Given the description of an element on the screen output the (x, y) to click on. 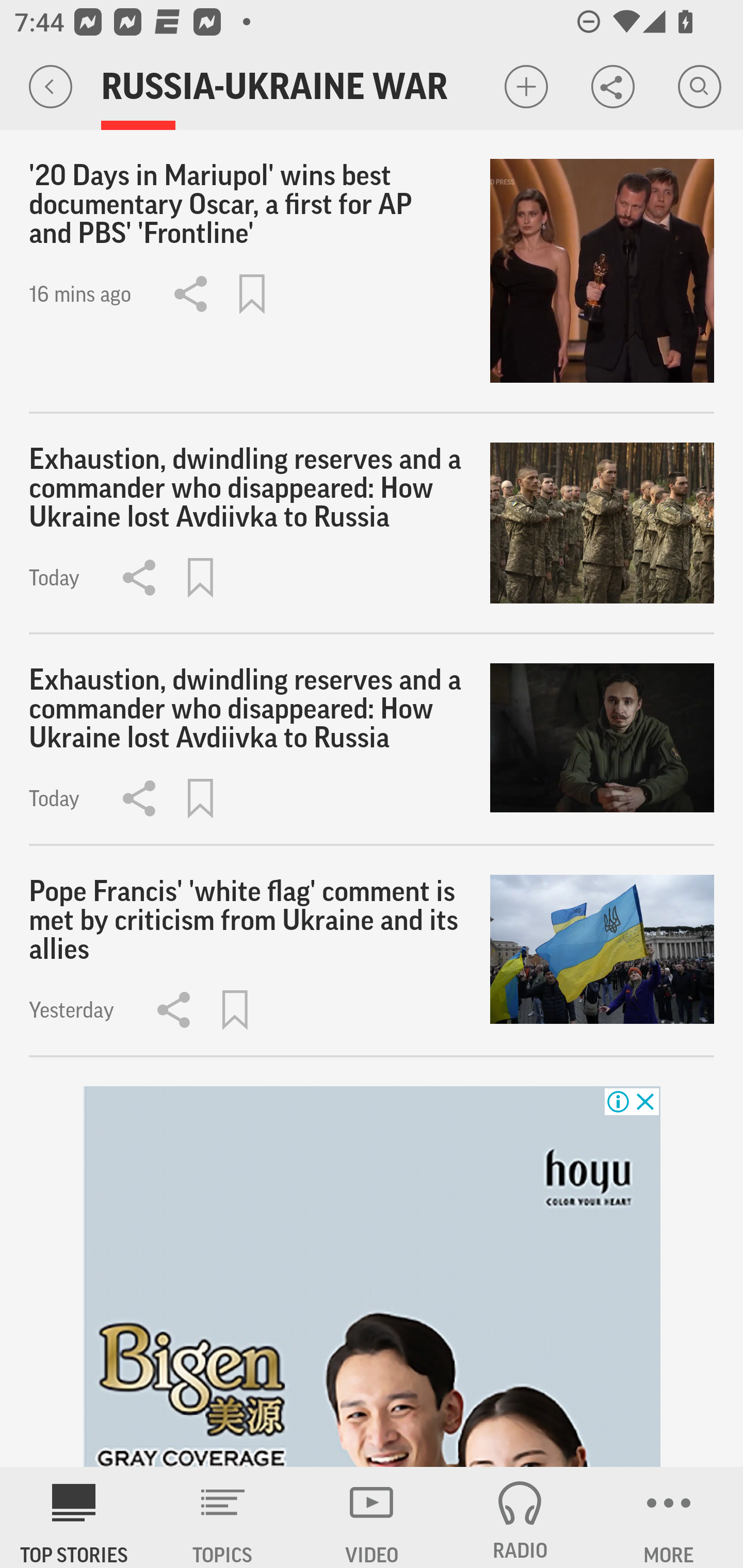
AP News TOP STORIES (74, 1517)
TOPICS (222, 1517)
VIDEO (371, 1517)
RADIO (519, 1517)
MORE (668, 1517)
